Given the description of an element on the screen output the (x, y) to click on. 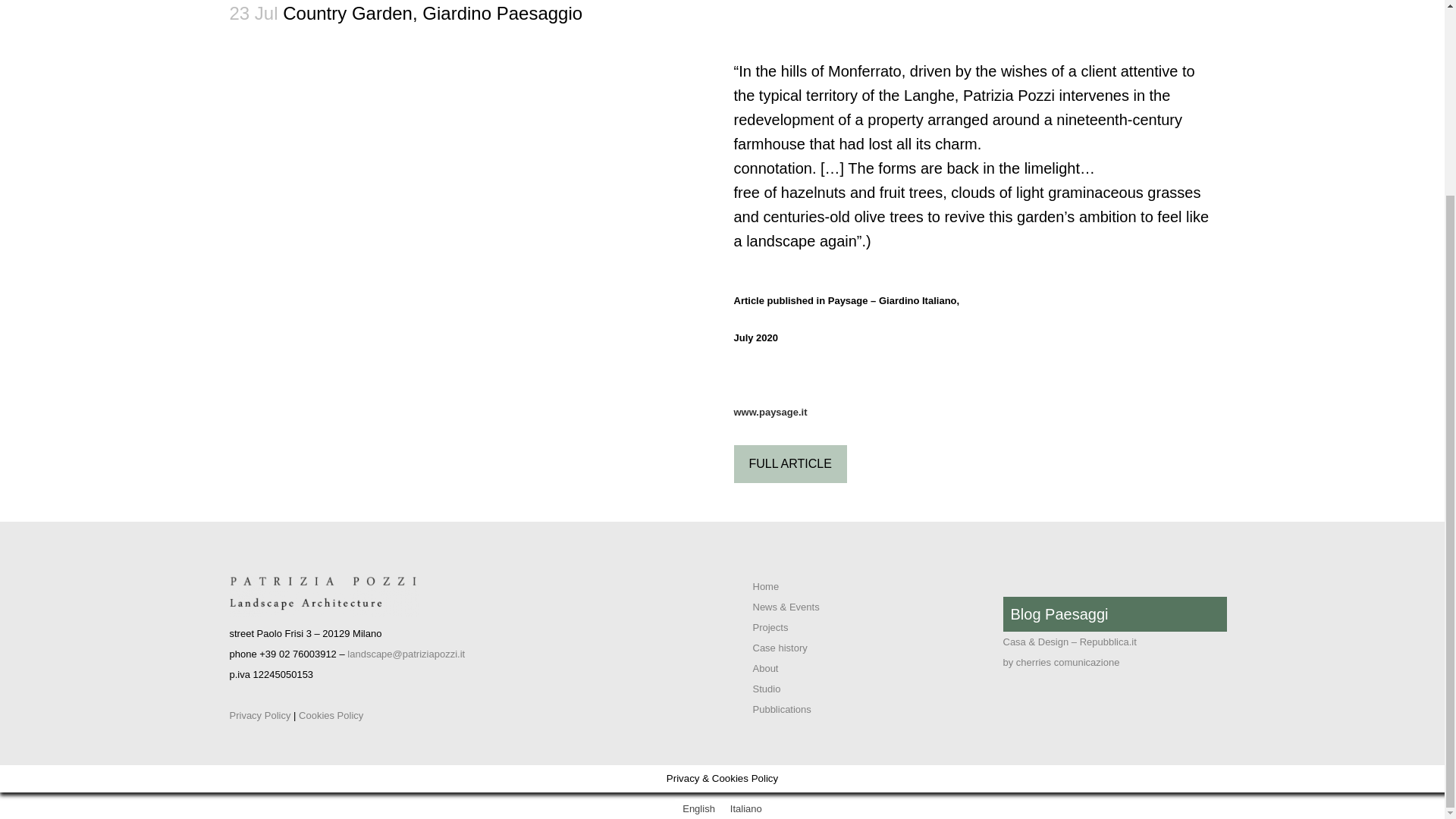
Cookies Policy (330, 715)
Home (765, 586)
Blog Paesaggi (1059, 614)
Studio (766, 688)
About (764, 668)
Case history (779, 647)
Privacy Policy (258, 715)
FULL ARTICLE (790, 464)
Pubblications (781, 708)
www.paysage.it (770, 411)
Projects (769, 627)
by cherries comunicazione (1061, 662)
